Given the description of an element on the screen output the (x, y) to click on. 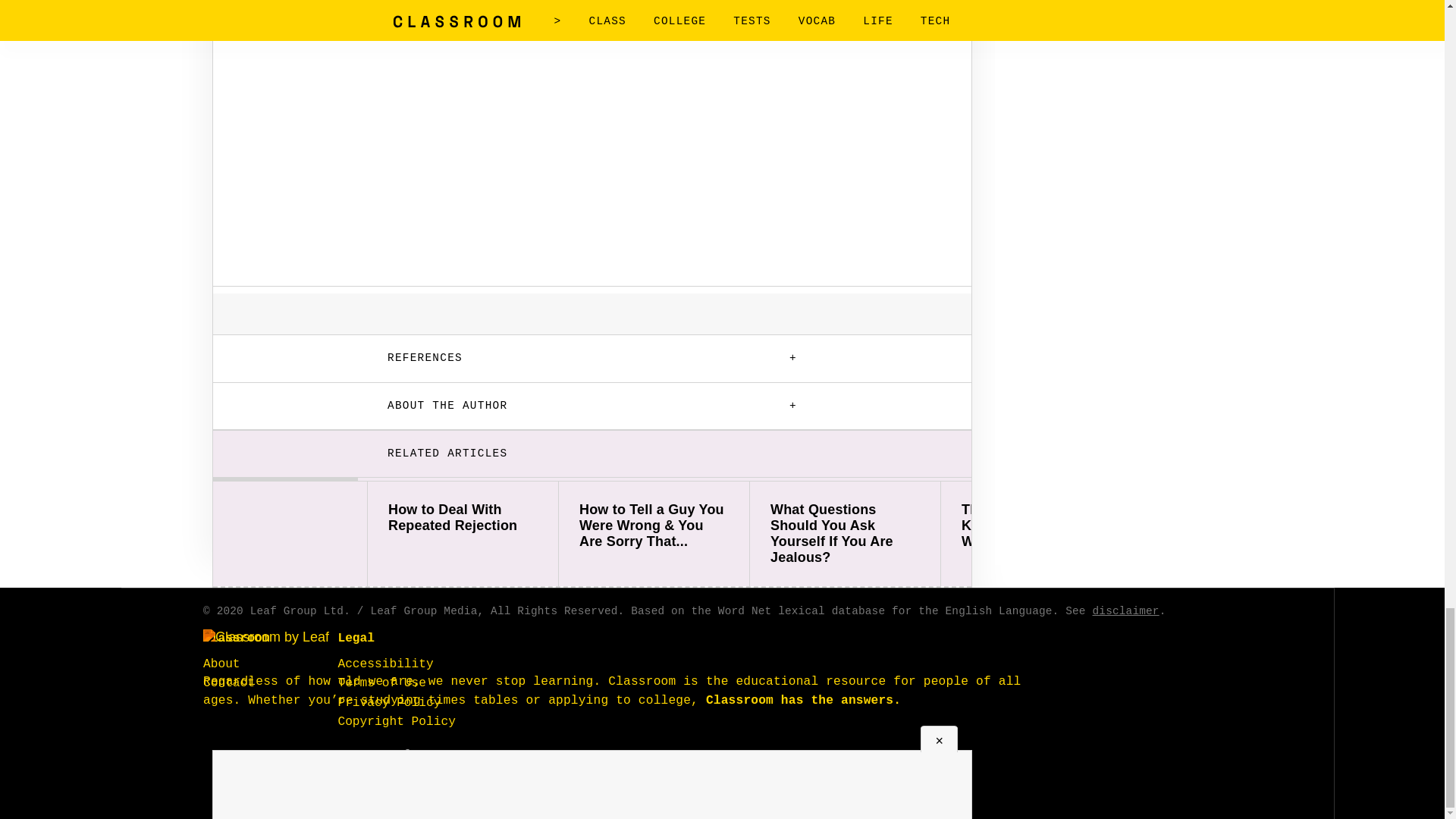
Privacy Policy (389, 703)
Contact (228, 683)
Terms of Use (381, 683)
Copyright Policy (395, 721)
Accessibility (384, 663)
The Best Ways to Keep Your Confidence When People Put... (1035, 525)
How to Deal With Repeated Rejection (462, 517)
About (221, 663)
What Questions Should You Ask Yourself If You Are Jealous? (844, 533)
How to Stop Trying to Please People Who Hurt You (1227, 525)
